Given the description of an element on the screen output the (x, y) to click on. 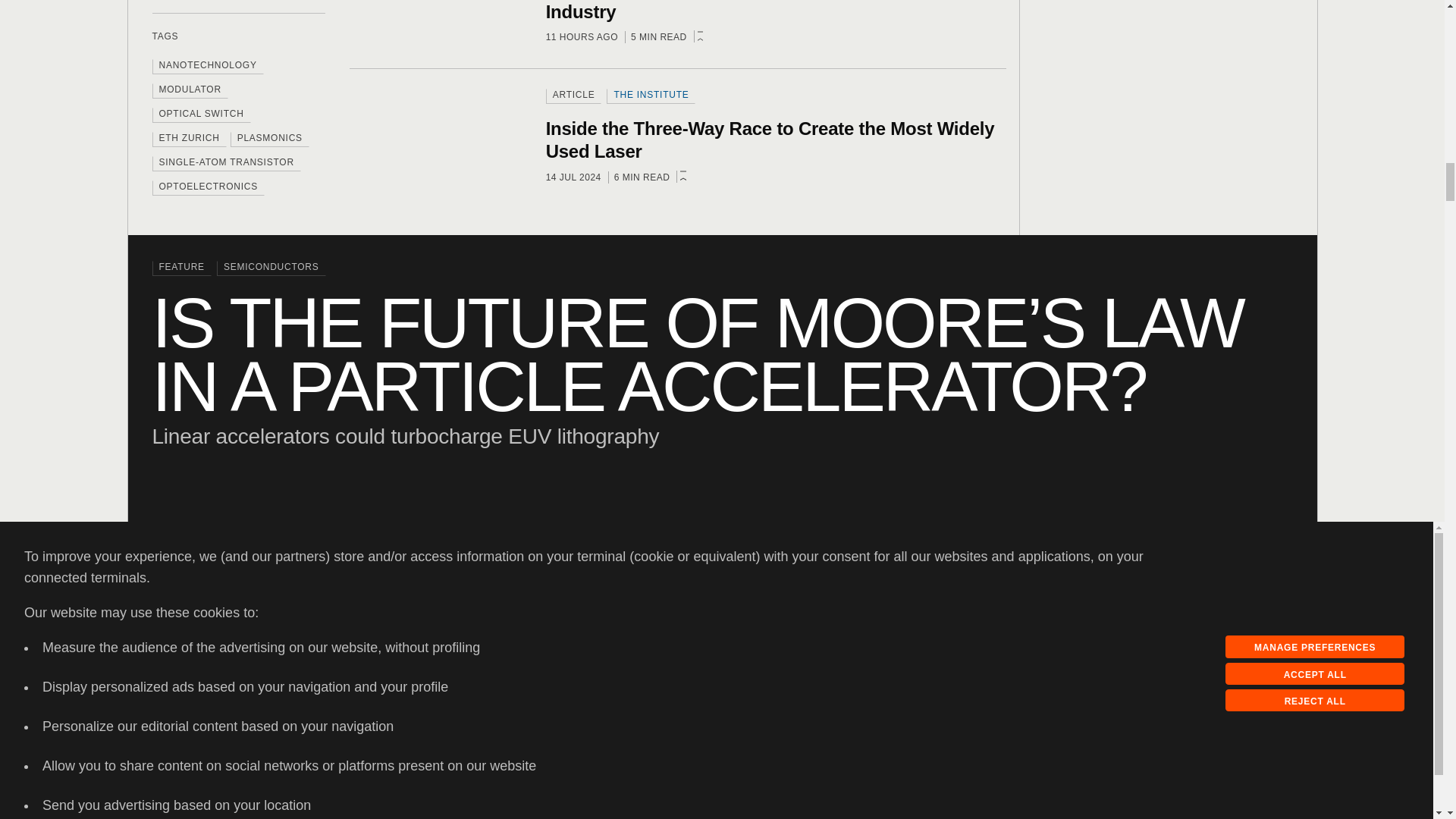
Copy this link to clipboard (1199, 660)
